Given the description of an element on the screen output the (x, y) to click on. 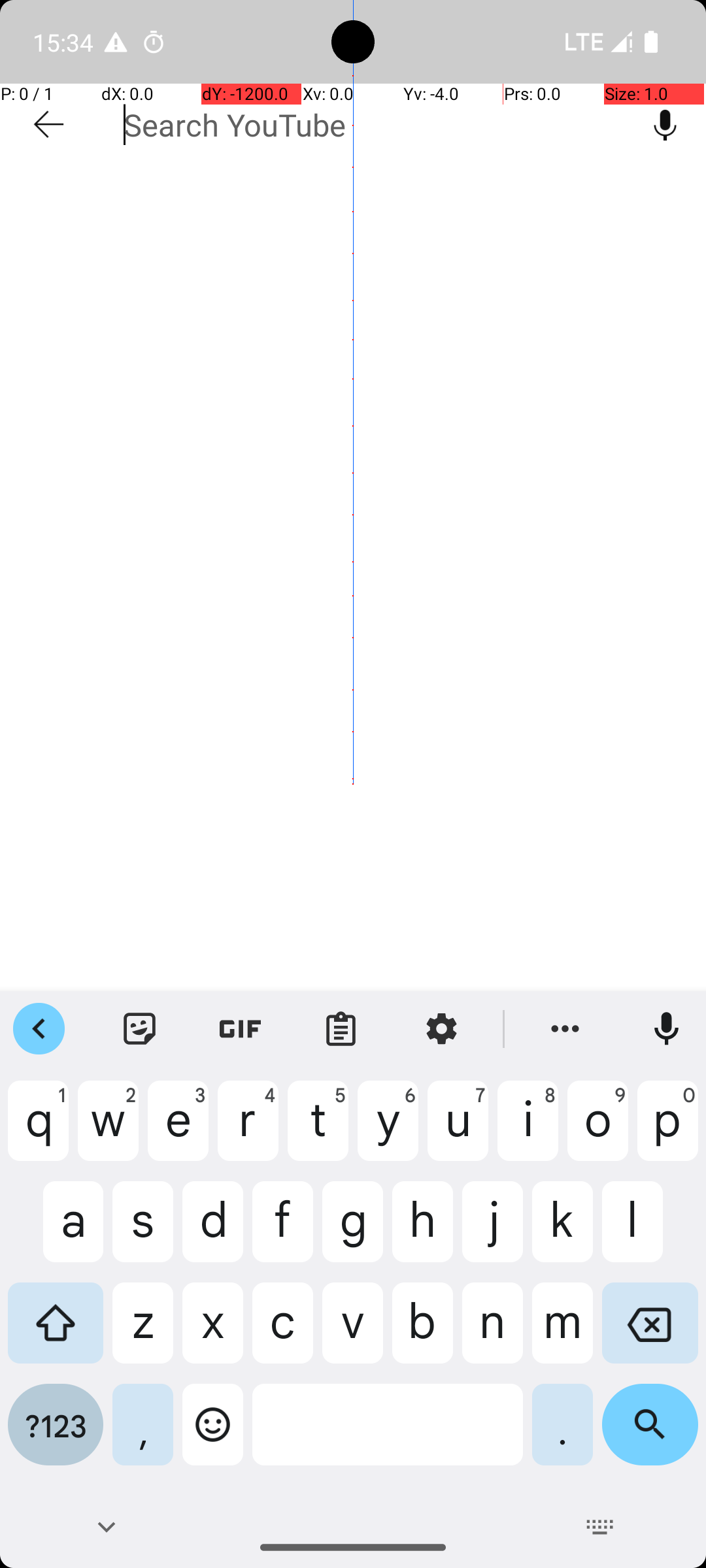
Navigate up Element type: android.widget.ImageButton (48, 124)
Search YouTube Element type: android.widget.EditText (373, 124)
Voice search Element type: android.widget.ImageView (664, 124)
Back Element type: android.widget.ImageView (106, 1526)
Switch input method Element type: android.widget.ImageView (599, 1526)
Close features menu Element type: android.widget.FrameLayout (39, 1028)
Sticker Keyboard Element type: android.widget.FrameLayout (139, 1028)
GIF Keyboard Element type: android.widget.FrameLayout (240, 1028)
Clipboard Element type: android.widget.FrameLayout (340, 1028)
Settings Element type: android.widget.FrameLayout (441, 1028)
More features Element type: android.widget.FrameLayout (565, 1028)
Voice input Element type: android.widget.FrameLayout (666, 1028)
q Element type: android.widget.FrameLayout (38, 1130)
w Element type: android.widget.FrameLayout (108, 1130)
e Element type: android.widget.FrameLayout (178, 1130)
r Element type: android.widget.FrameLayout (248, 1130)
t Element type: android.widget.FrameLayout (318, 1130)
y Element type: android.widget.FrameLayout (387, 1130)
u Element type: android.widget.FrameLayout (457, 1130)
i Element type: android.widget.FrameLayout (527, 1130)
o Element type: android.widget.FrameLayout (597, 1130)
p Element type: android.widget.FrameLayout (667, 1130)
a Element type: android.widget.FrameLayout (55, 1231)
s Element type: android.widget.FrameLayout (142, 1231)
d Element type: android.widget.FrameLayout (212, 1231)
f Element type: android.widget.FrameLayout (282, 1231)
g Element type: android.widget.FrameLayout (352, 1231)
h Element type: android.widget.FrameLayout (422, 1231)
j Element type: android.widget.FrameLayout (492, 1231)
k Element type: android.widget.FrameLayout (562, 1231)
l Element type: android.widget.FrameLayout (649, 1231)
Shift Element type: android.widget.FrameLayout (55, 1332)
z Element type: android.widget.FrameLayout (142, 1332)
x Element type: android.widget.FrameLayout (212, 1332)
c Element type: android.widget.FrameLayout (282, 1332)
v Element type: android.widget.FrameLayout (352, 1332)
b Element type: android.widget.FrameLayout (422, 1332)
n Element type: android.widget.FrameLayout (492, 1332)
m Element type: android.widget.FrameLayout (562, 1332)
Delete Element type: android.widget.FrameLayout (649, 1332)
Symbol keyboard Element type: android.widget.FrameLayout (55, 1434)
, Element type: android.widget.FrameLayout (142, 1434)
Emoji button Element type: android.widget.FrameLayout (212, 1434)
Space Element type: android.widget.FrameLayout (387, 1434)
. Element type: android.widget.FrameLayout (562, 1434)
